Given the description of an element on the screen output the (x, y) to click on. 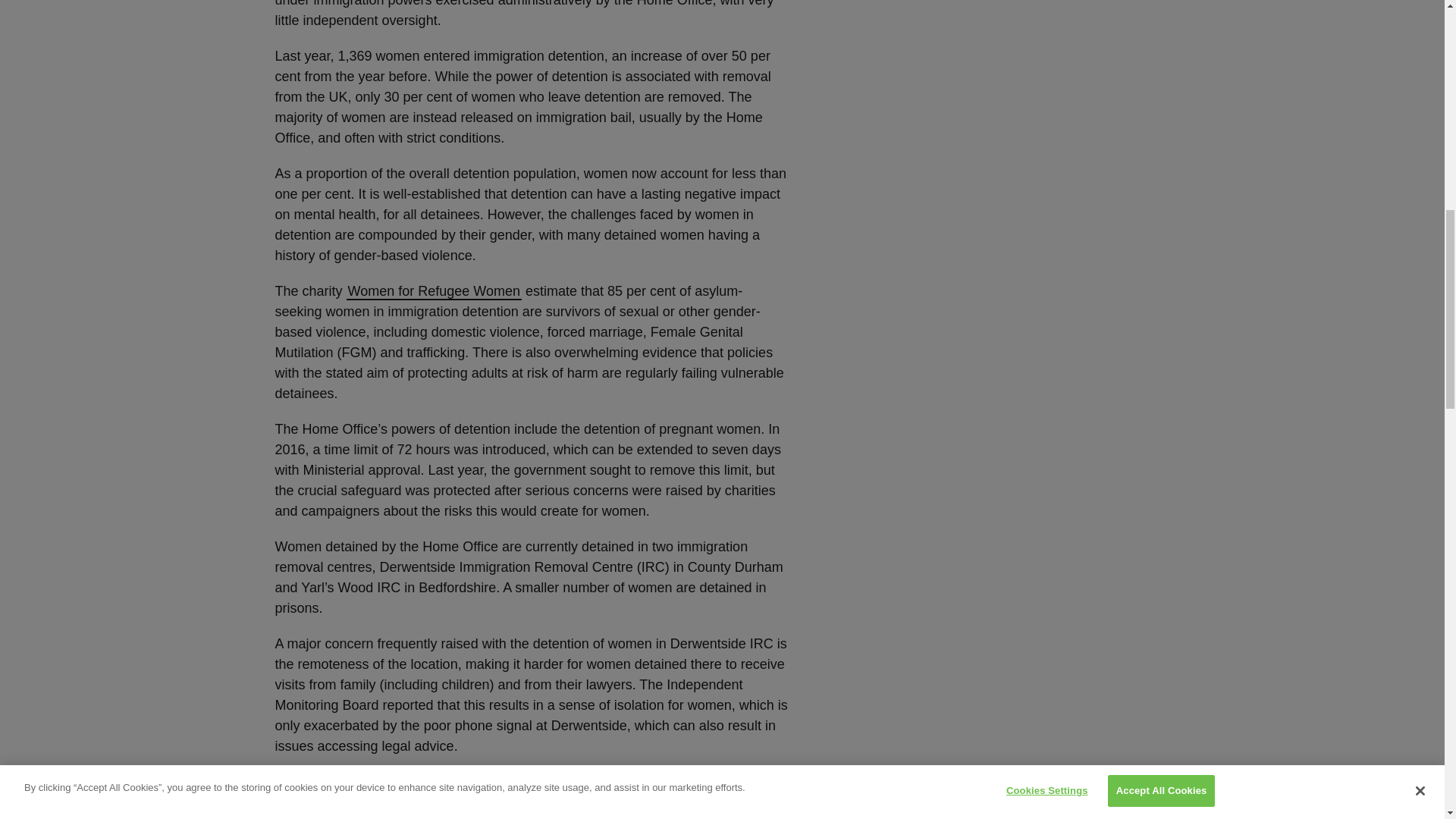
Women for Refugee Women website (433, 291)
Derwentside report (495, 782)
